Given the description of an element on the screen output the (x, y) to click on. 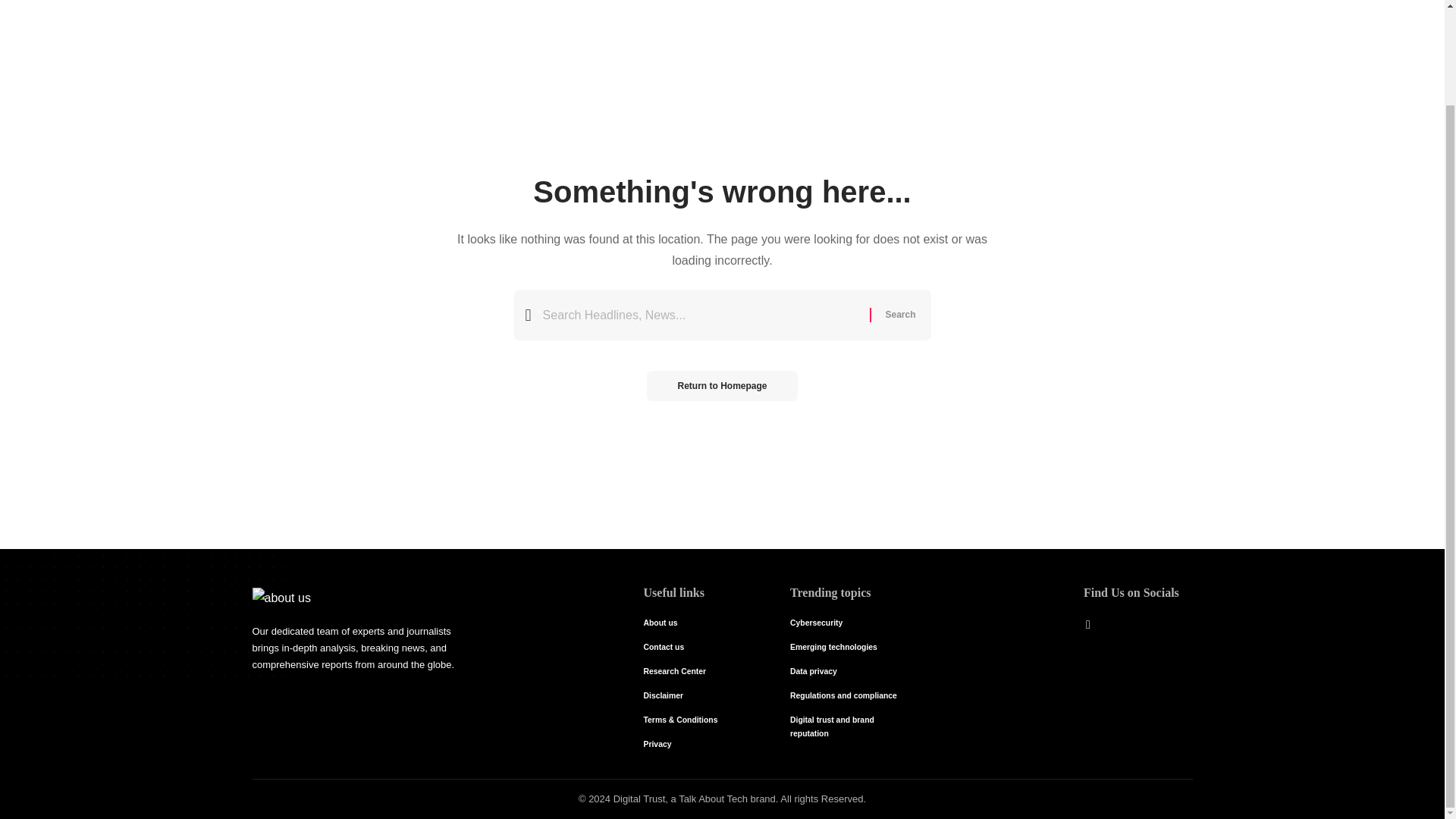
Search (899, 314)
